Given the description of an element on the screen output the (x, y) to click on. 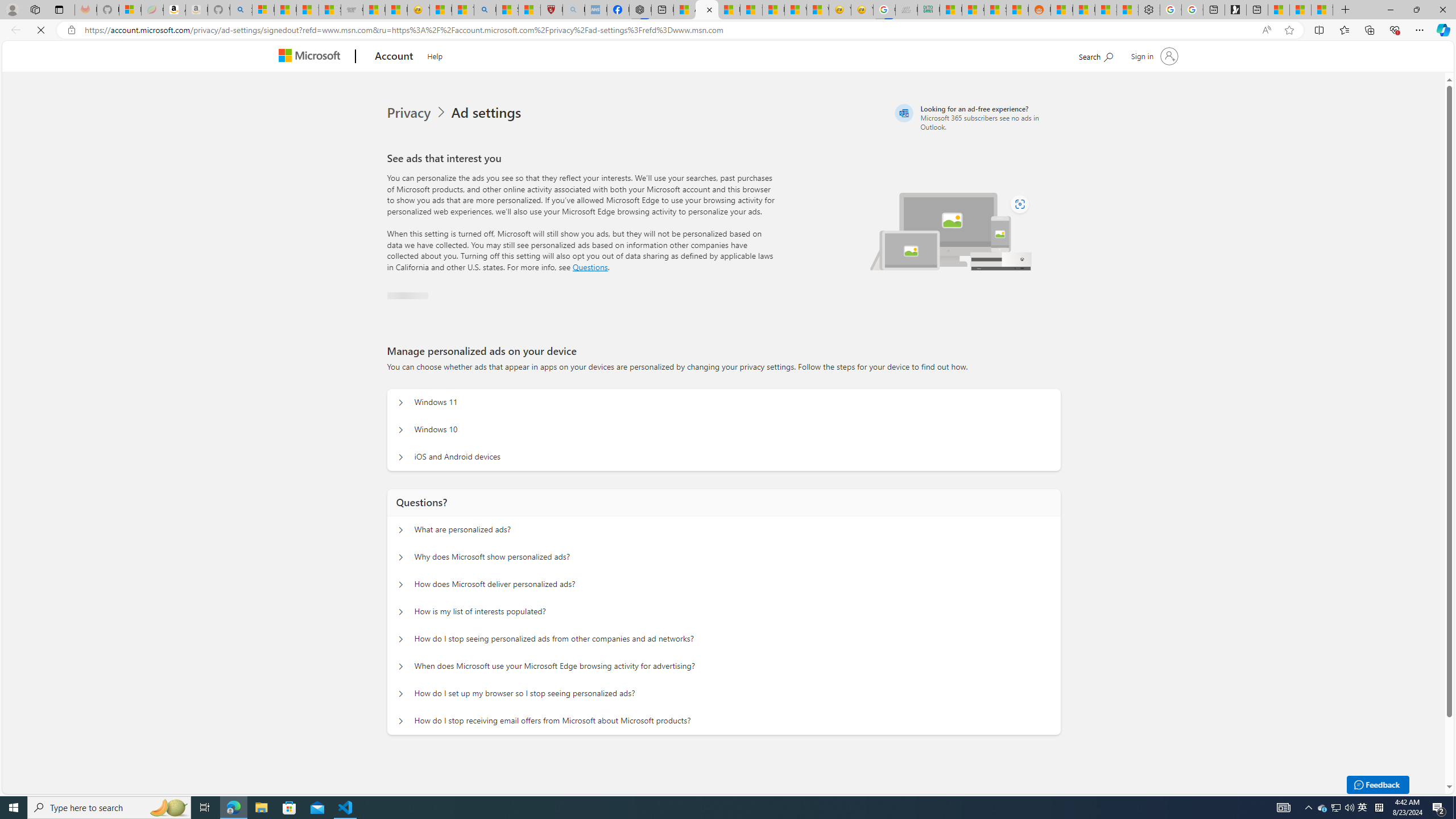
Ad settings (485, 112)
Questions? How is my list of interests populated? (401, 612)
